Given the description of an element on the screen output the (x, y) to click on. 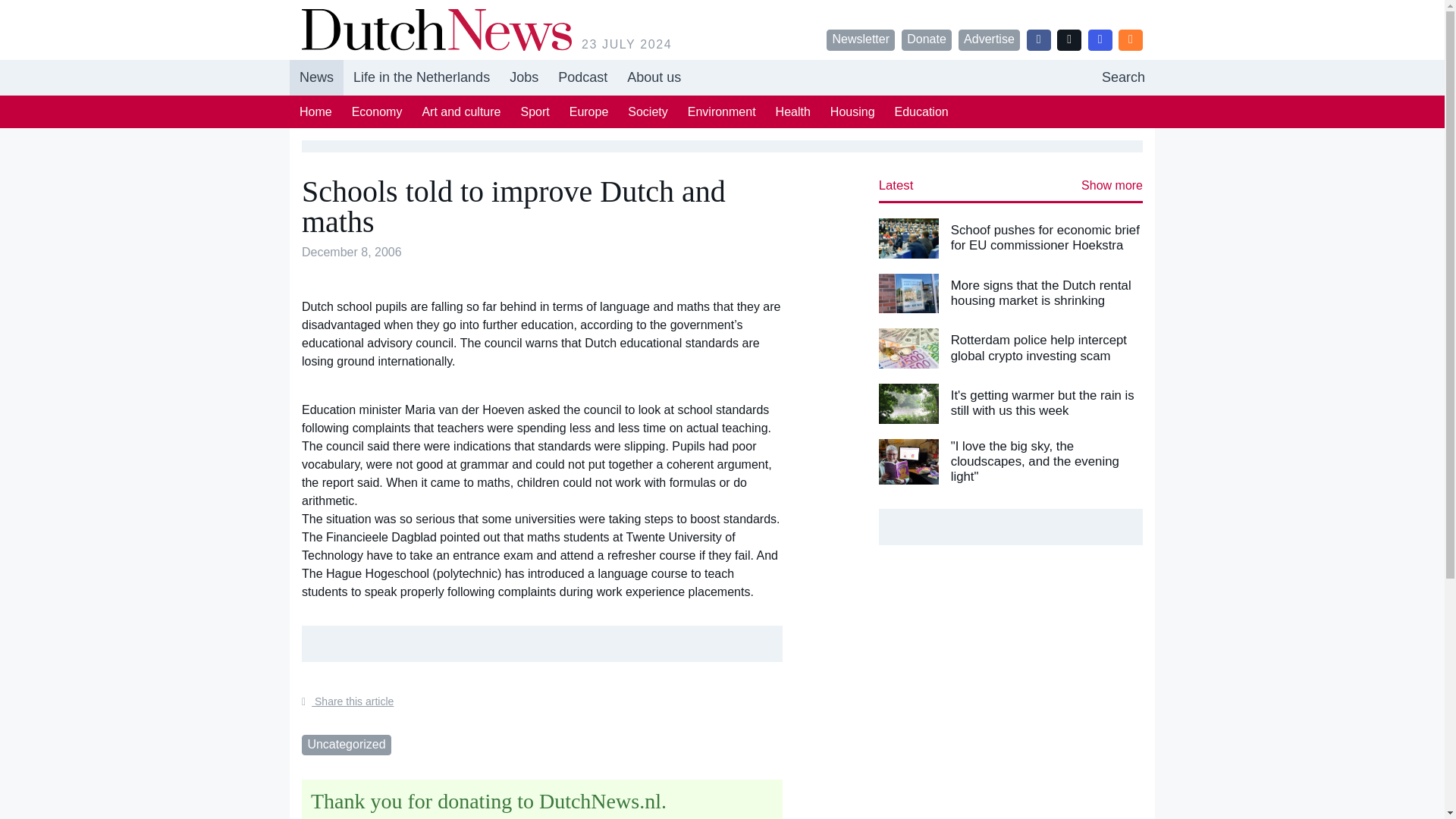
News (316, 77)
Home (315, 111)
Podcast (582, 77)
Life in the Netherlands (421, 77)
Advertise (989, 39)
Europe (588, 111)
Search (1123, 77)
hidden-in-footer (523, 77)
hidden-in-footer (1123, 77)
Health (793, 111)
Donate (926, 39)
Art and culture (461, 111)
About us (653, 77)
Economy (377, 111)
